Given the description of an element on the screen output the (x, y) to click on. 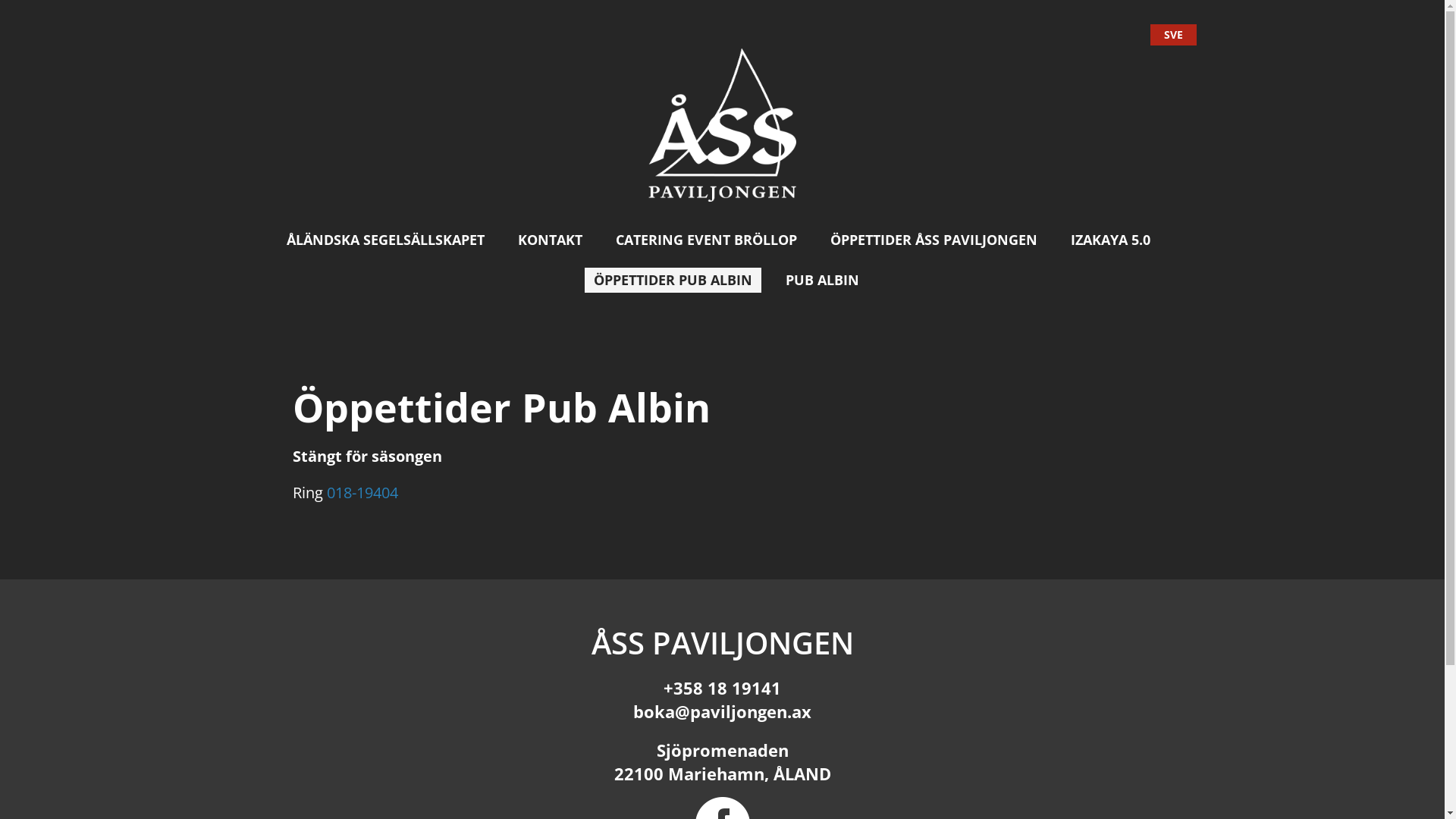
PUB ALBIN Element type: text (822, 279)
KONTAKT Element type: text (549, 239)
SVE Element type: text (1172, 34)
018-19404 Element type: text (361, 492)
boka@paviljongen.ax Element type: text (722, 710)
IZAKAYA 5.0 Element type: text (1110, 239)
